Given the description of an element on the screen output the (x, y) to click on. 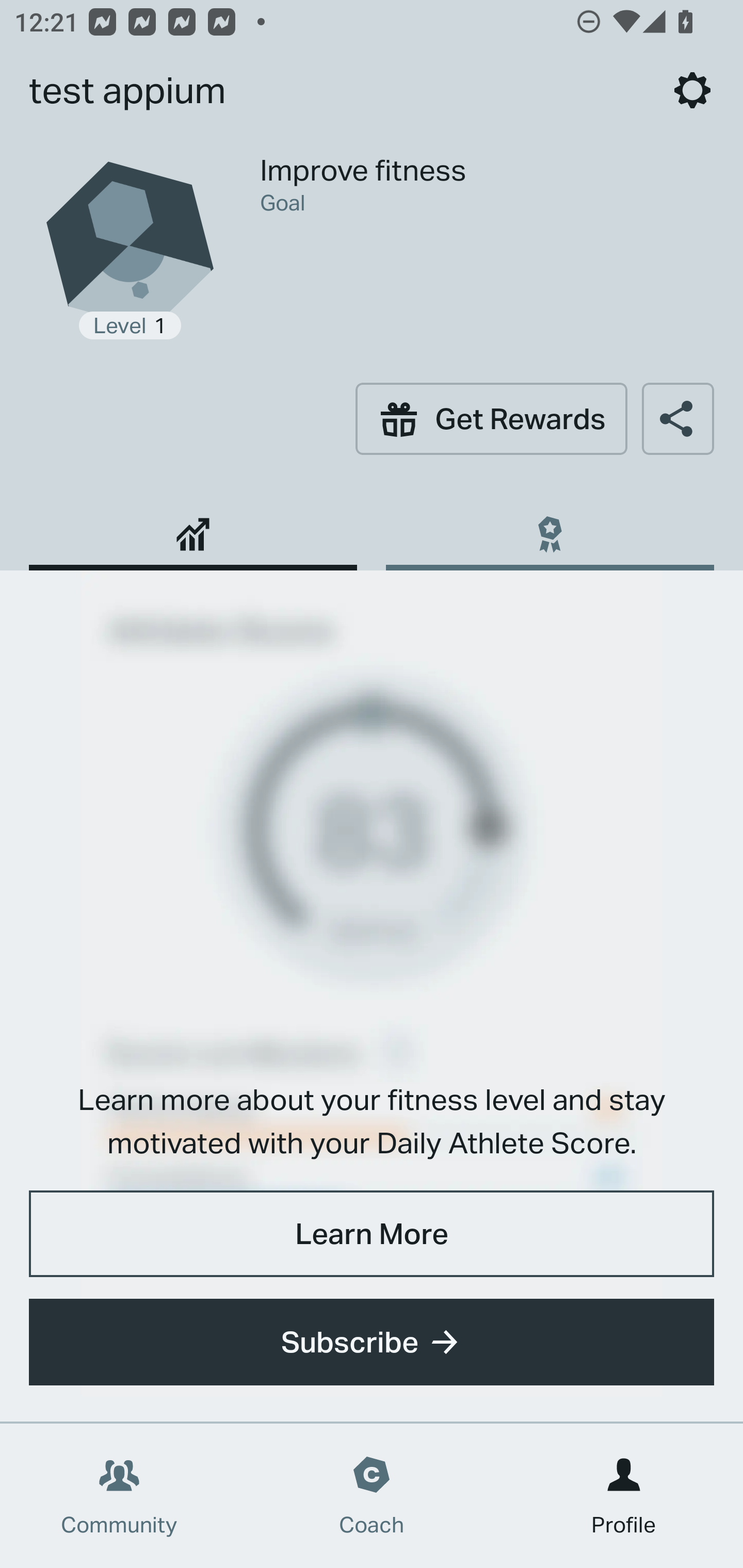
Settings (692, 90)
Get Rewards (491, 418)
Daily Athlete Score (192, 527)
Hall of Fame (549, 527)
Learn More (371, 1233)
Subscribe (371, 1342)
Community (119, 1495)
Coach (371, 1495)
